Given the description of an element on the screen output the (x, y) to click on. 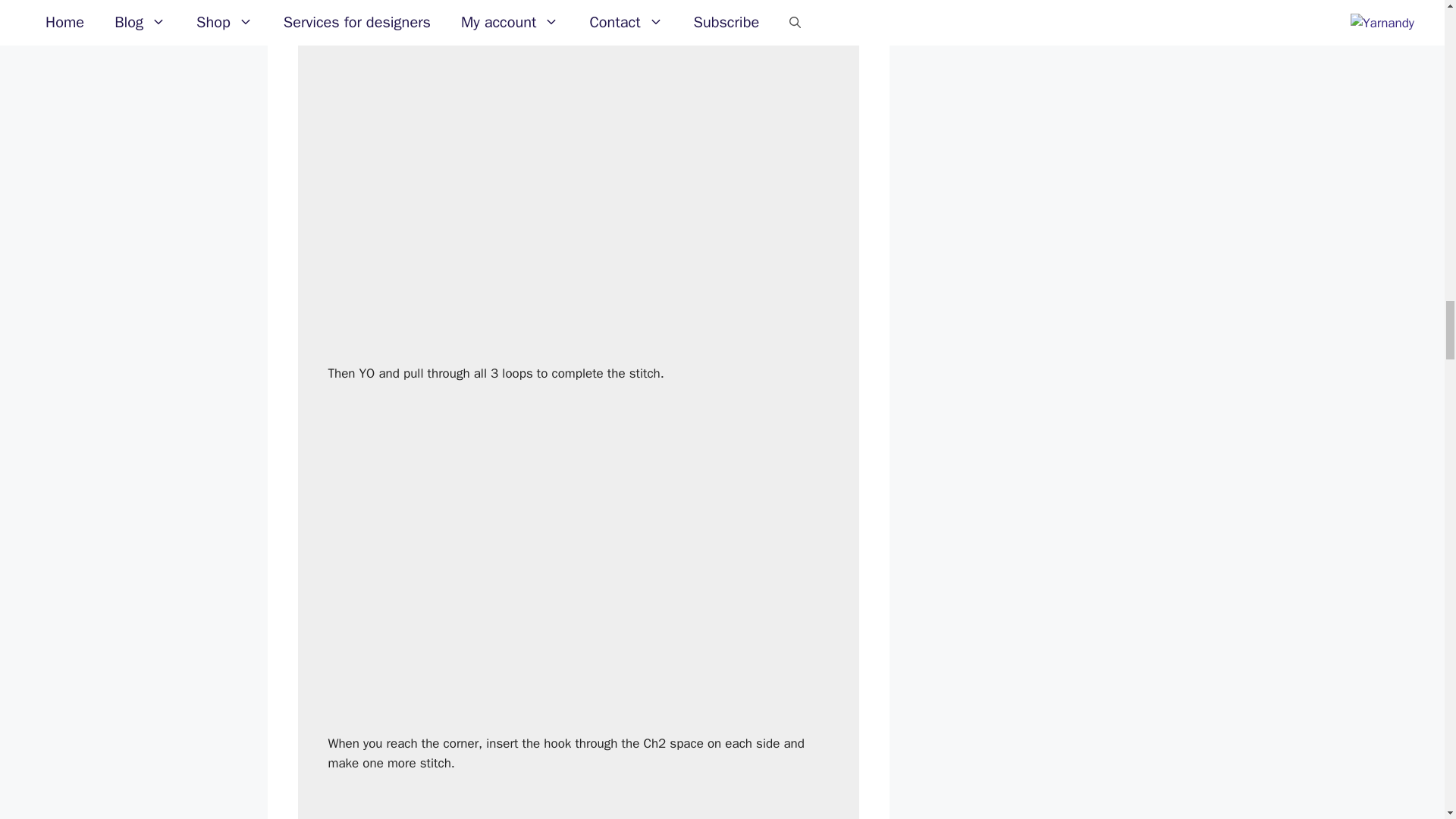
Easy way to join granny squares - slip stitch method 10 (577, 805)
